Given the description of an element on the screen output the (x, y) to click on. 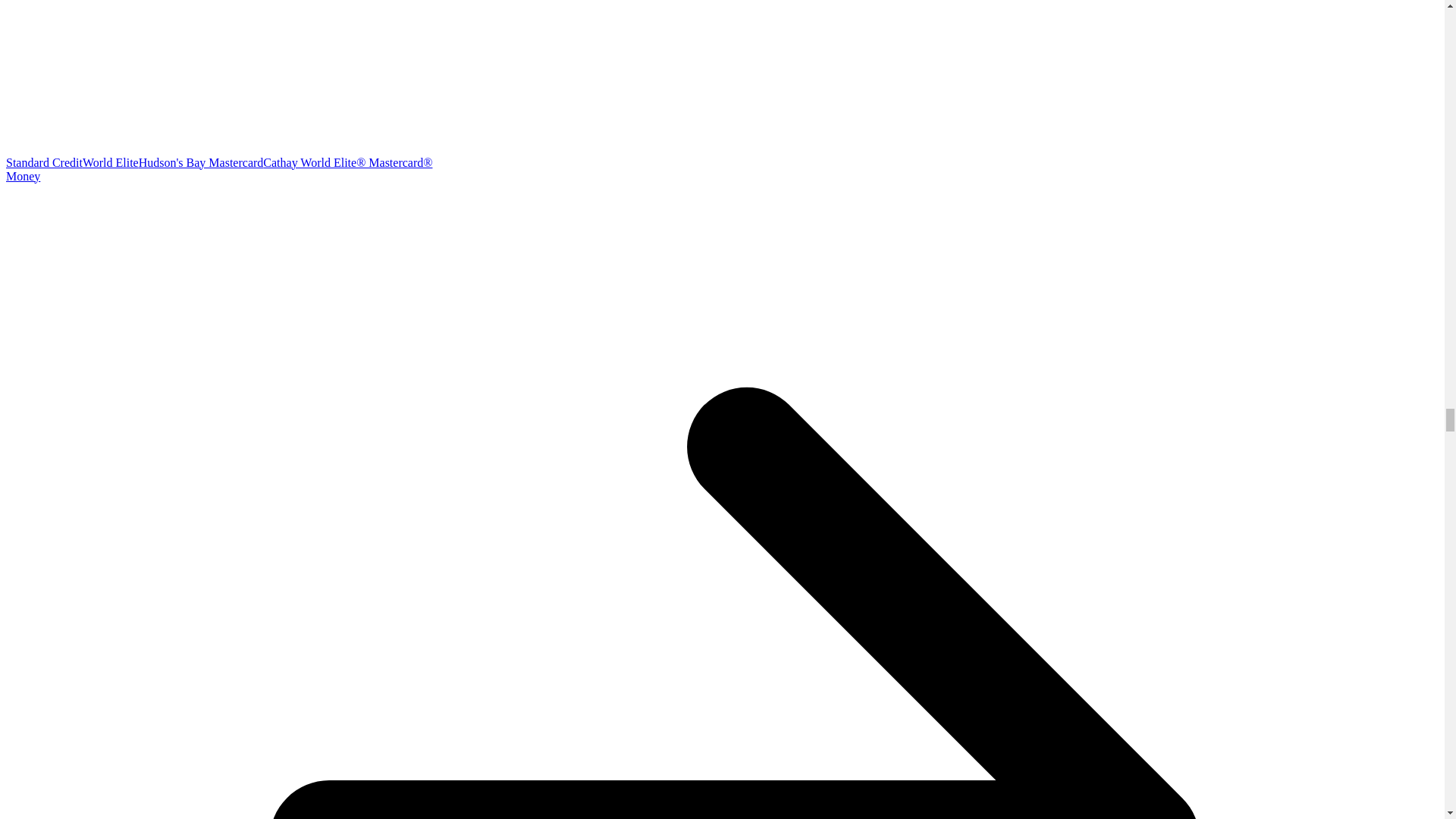
Hudson's Bay Mastercard (200, 162)
Money (22, 175)
Standard Credit (43, 162)
World Elite (110, 162)
